Given the description of an element on the screen output the (x, y) to click on. 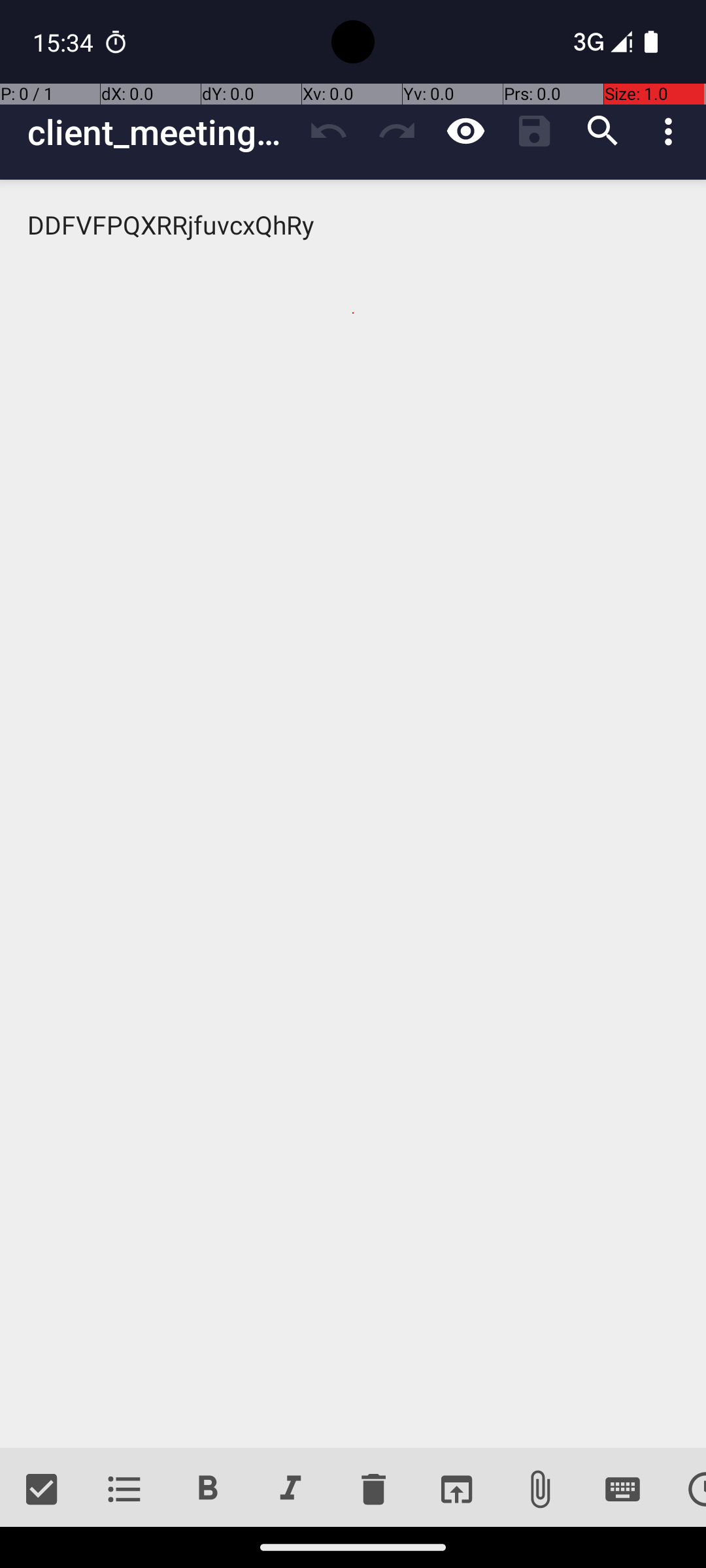
client_meetings_schedule_backup Element type: android.widget.TextView (160, 131)
DDFVFPQXRRjfuvcxQhRy
 Element type: android.widget.EditText (353, 813)
